Given the description of an element on the screen output the (x, y) to click on. 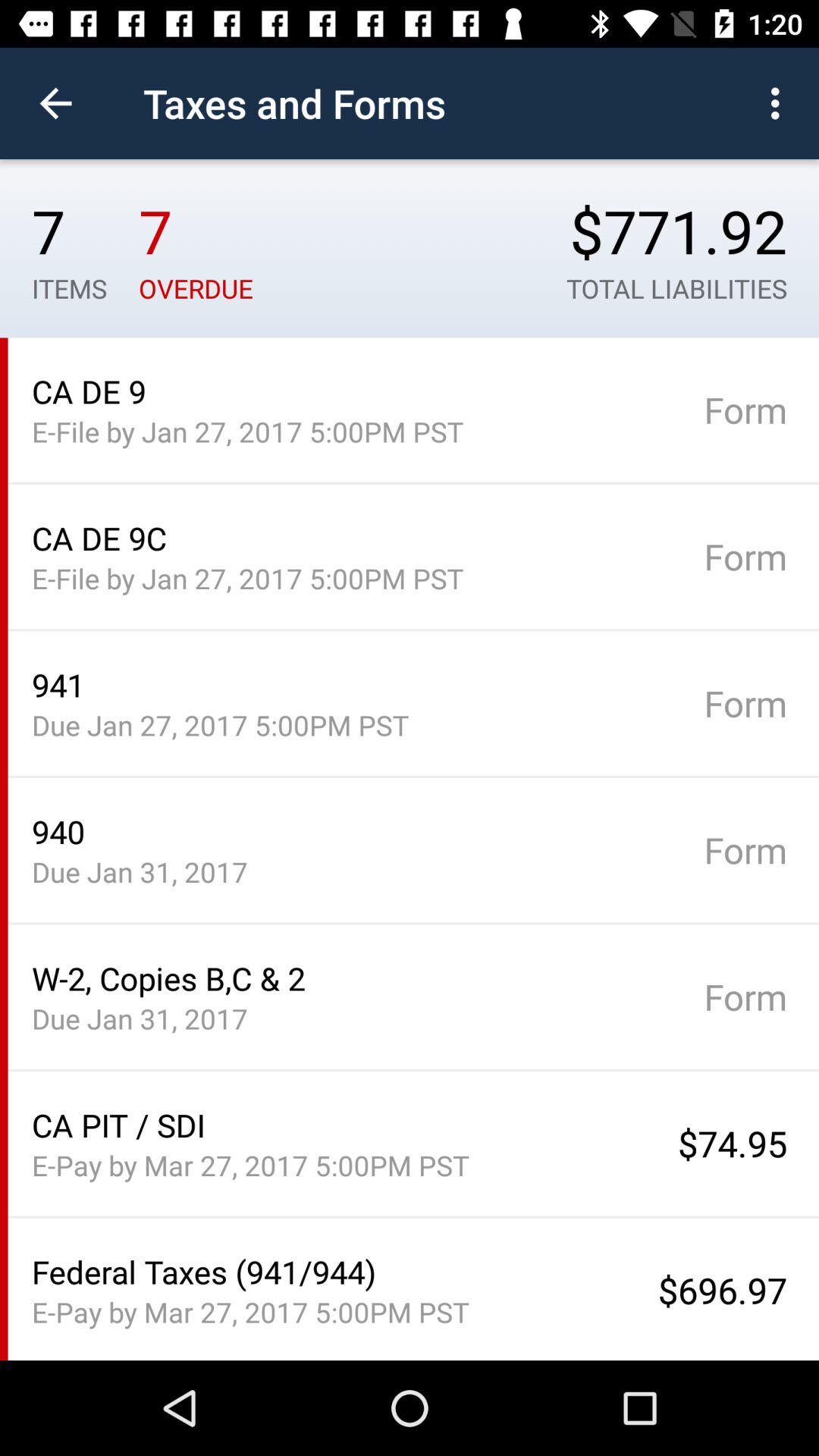
select the item next to taxes and forms item (55, 103)
